Given the description of an element on the screen output the (x, y) to click on. 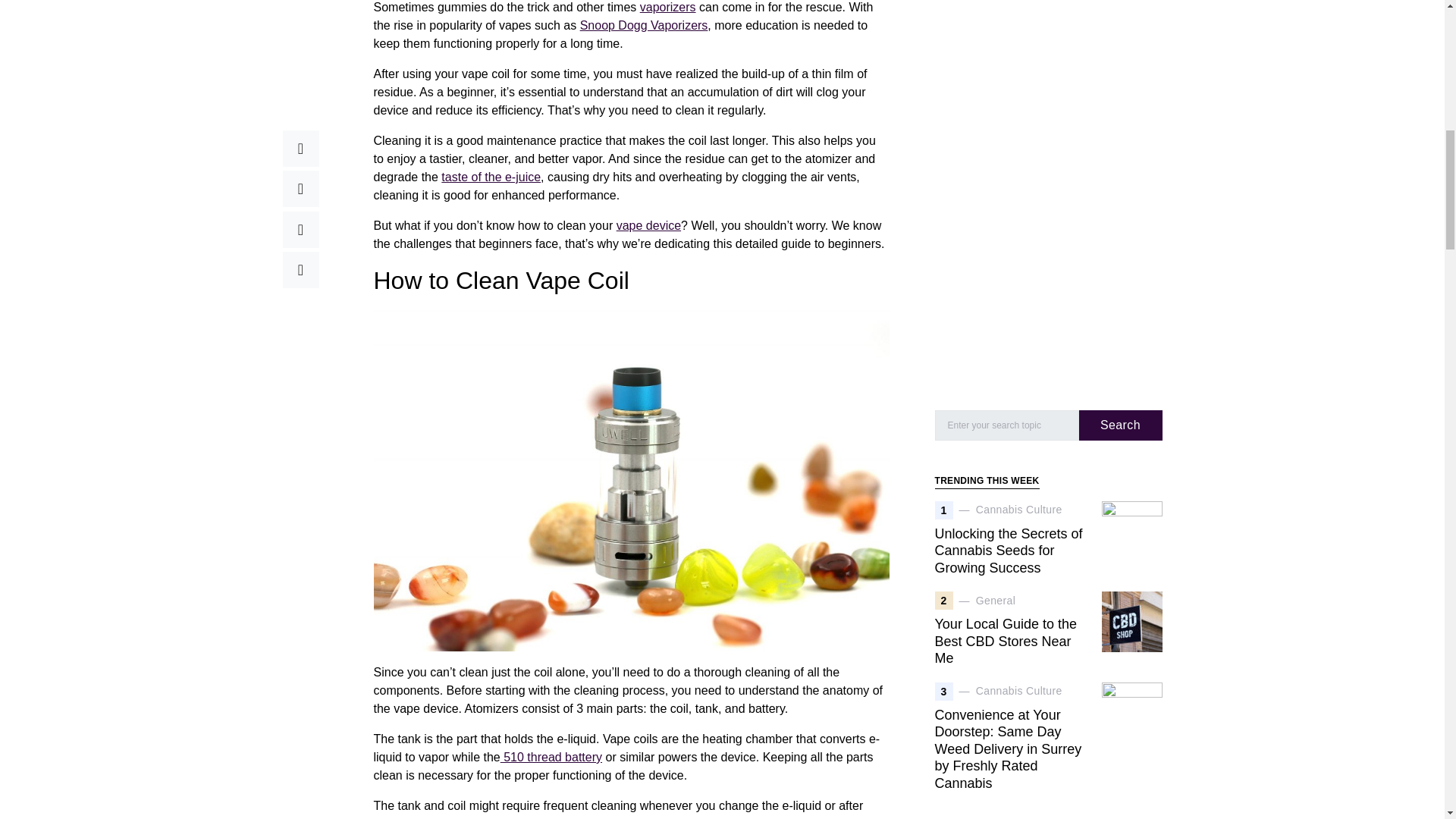
Snoop Dogg Vaporizers (643, 24)
vape device (648, 225)
taste of the e-juice (490, 176)
510 thread battery (551, 757)
cleaning the tank (556, 818)
vaporizers (667, 6)
